Given the description of an element on the screen output the (x, y) to click on. 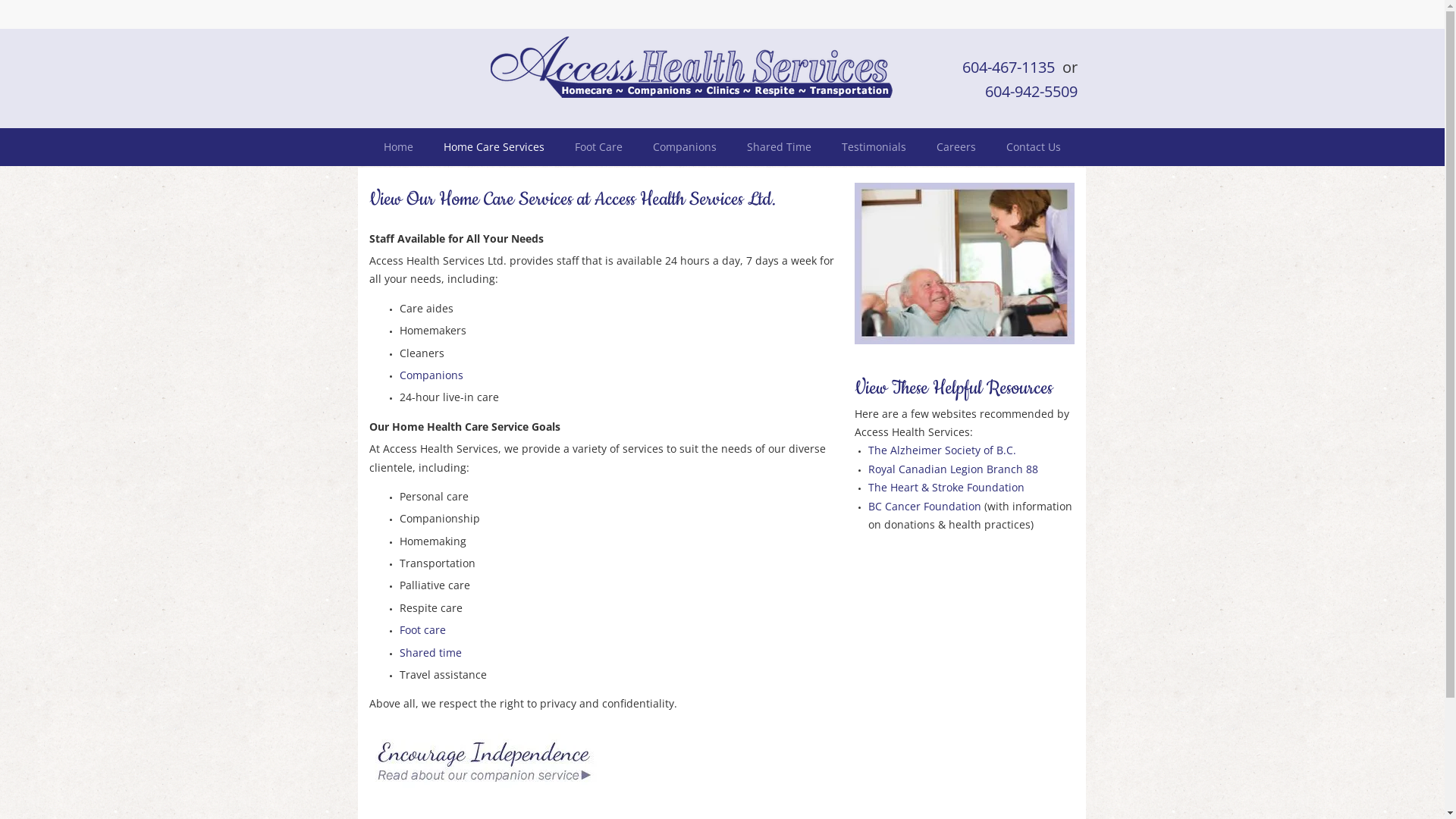
Embedded Content Element type: hover (1069, 19)
Contact Us Element type: text (1033, 146)
Shared Time Element type: text (778, 146)
604-467-1135 Element type: text (1007, 66)
Careers Element type: text (956, 146)
Shared time Element type: text (429, 652)
Testimonials Element type: text (873, 146)
Companions Element type: text (430, 374)
Companions Element type: text (684, 146)
Foot Care Element type: text (598, 146)
BC Cancer Foundation Element type: text (923, 505)
Embedded Content Element type: hover (943, 22)
Home Care Services Element type: text (493, 146)
604-942-5509 Element type: text (1030, 92)
The Heart & Stroke Foundation Element type: text (945, 487)
The Alzheimer Society of B.C. Element type: text (941, 449)
Royal Canadian Legion Branch 88 Element type: text (952, 468)
Foot care Element type: text (421, 629)
Home Element type: text (398, 146)
